Given the description of an element on the screen output the (x, y) to click on. 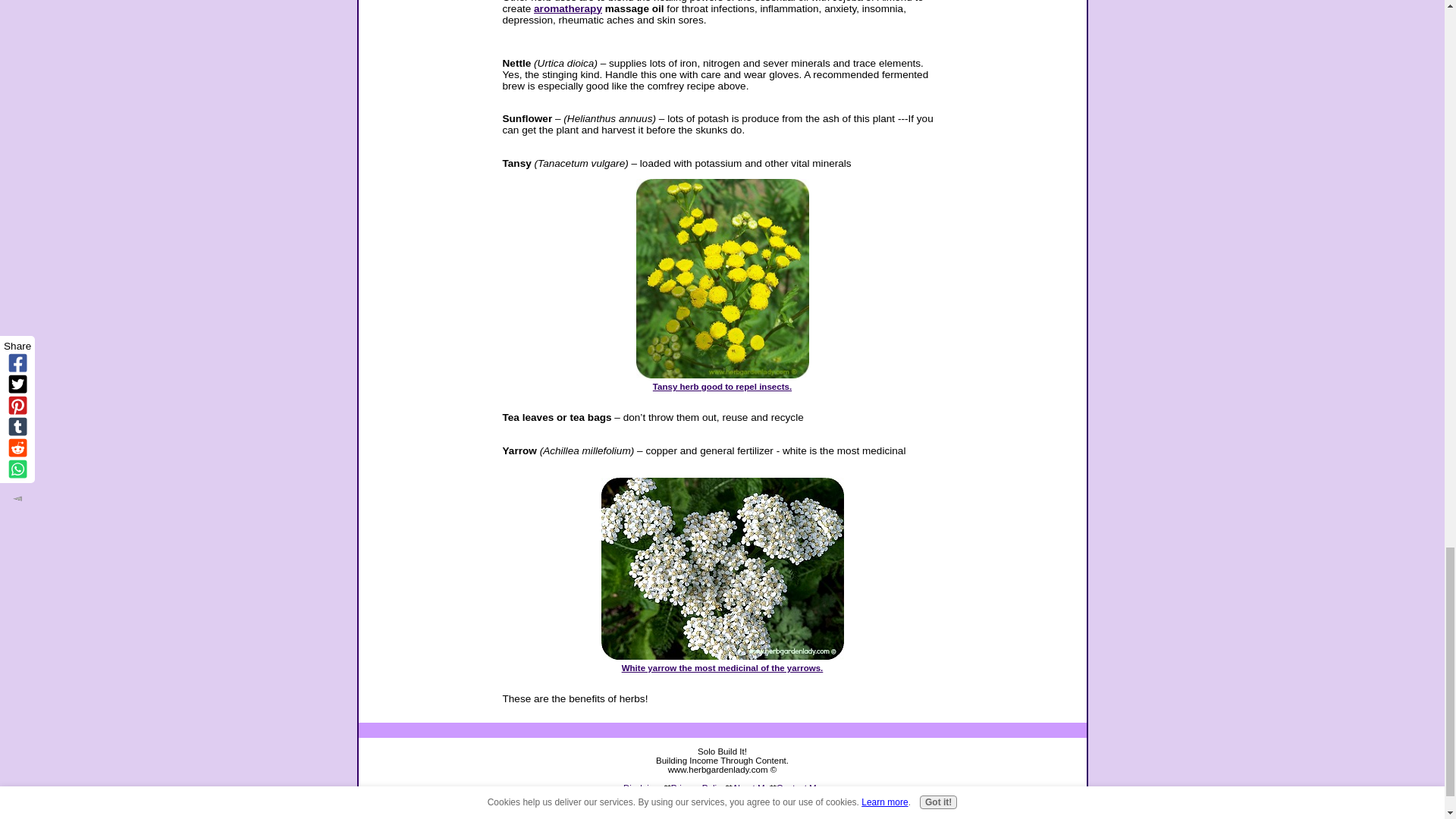
Tansy herb good to repel insects (722, 381)
White yarrow the most medicinal of the yarrows. (722, 662)
Tansy herb good to repel insects. (722, 381)
Tansy herb good to repel insects (721, 278)
White yarrow the most medicinal of the yarrows. (721, 568)
White yarrow the most medicinal of the yarrows. (722, 662)
aromatherapy (568, 7)
